Given the description of an element on the screen output the (x, y) to click on. 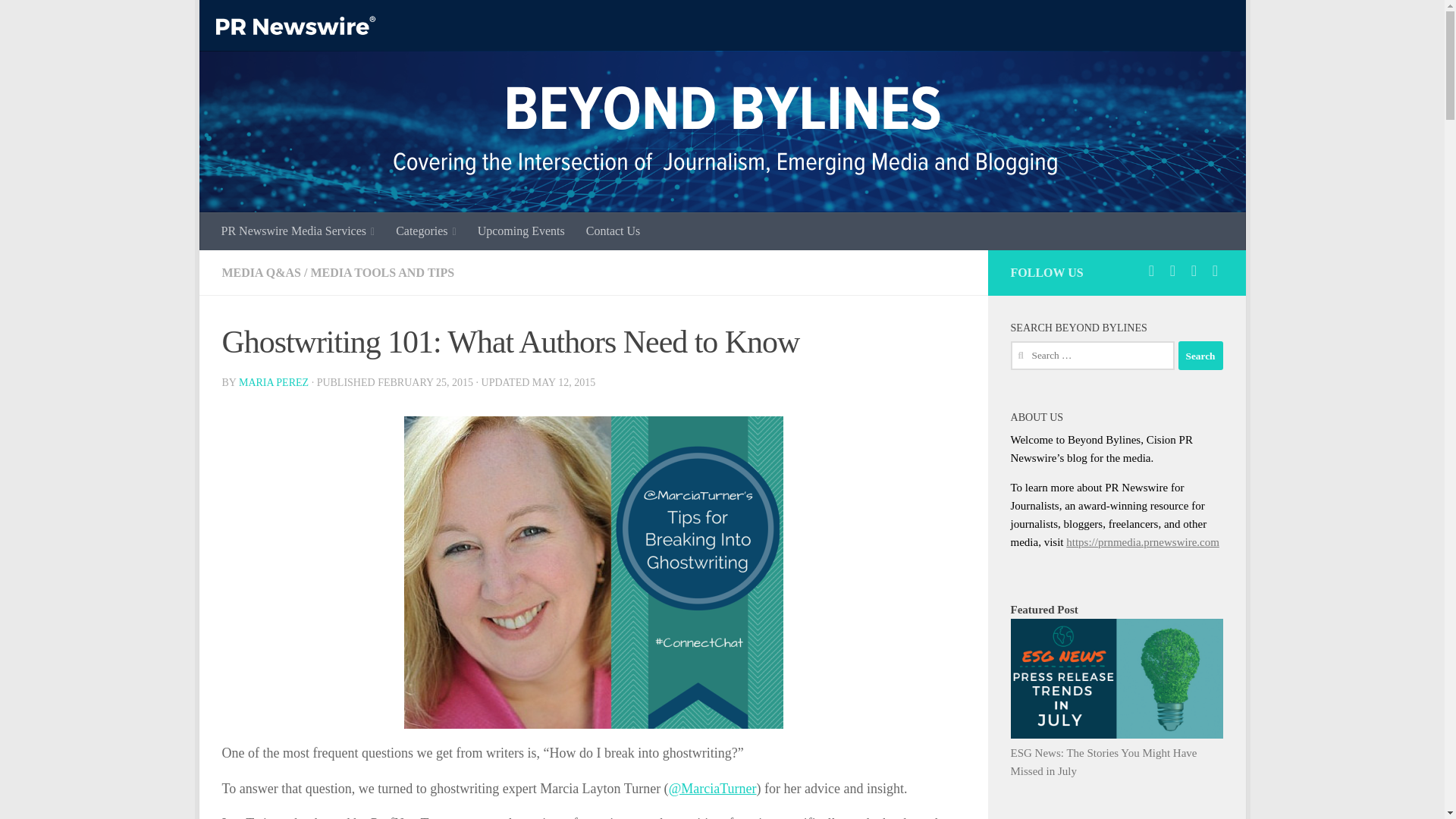
Upcoming Events (521, 231)
Skip to content (258, 20)
Contact Us (612, 231)
Follow us on Linkedin (1193, 270)
Follow us on Twitter (1150, 270)
Categories (426, 231)
Search (1200, 355)
Search (1200, 355)
PR Newswire Media Services (298, 231)
MEDIA TOOLS AND TIPS (382, 272)
Follow us on Facebook (1171, 270)
MARIA PEREZ (273, 382)
Posts by Maria Perez (273, 382)
